Given the description of an element on the screen output the (x, y) to click on. 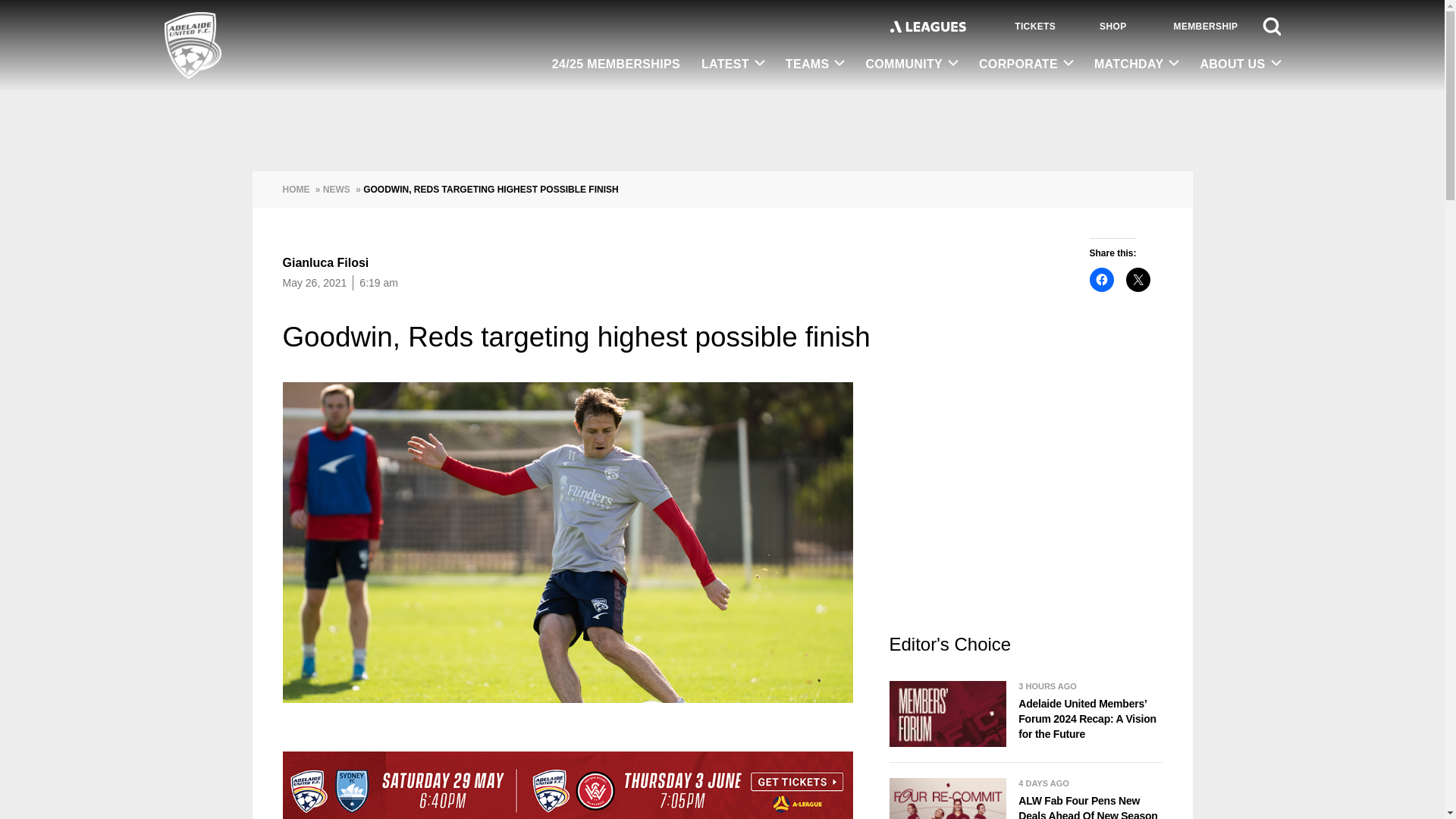
COMMUNITY (911, 64)
CORPORATE (1025, 64)
TEAMS (815, 64)
Click to share on Facebook (1101, 279)
LATEST (732, 64)
Click to share on X (1137, 279)
